Given the description of an element on the screen output the (x, y) to click on. 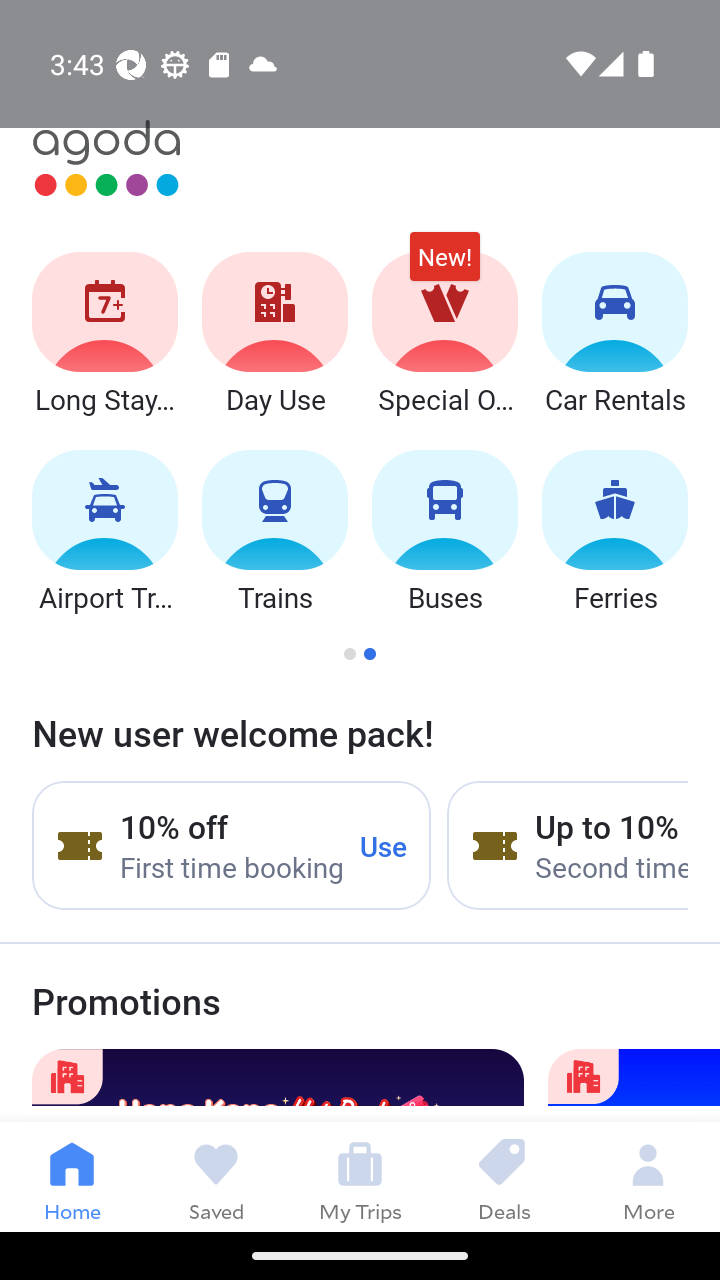
New! (444, 265)
Use (384, 845)
Home (72, 1176)
Saved (216, 1176)
My Trips (360, 1176)
Deals (504, 1176)
More (648, 1176)
